Given the description of an element on the screen output the (x, y) to click on. 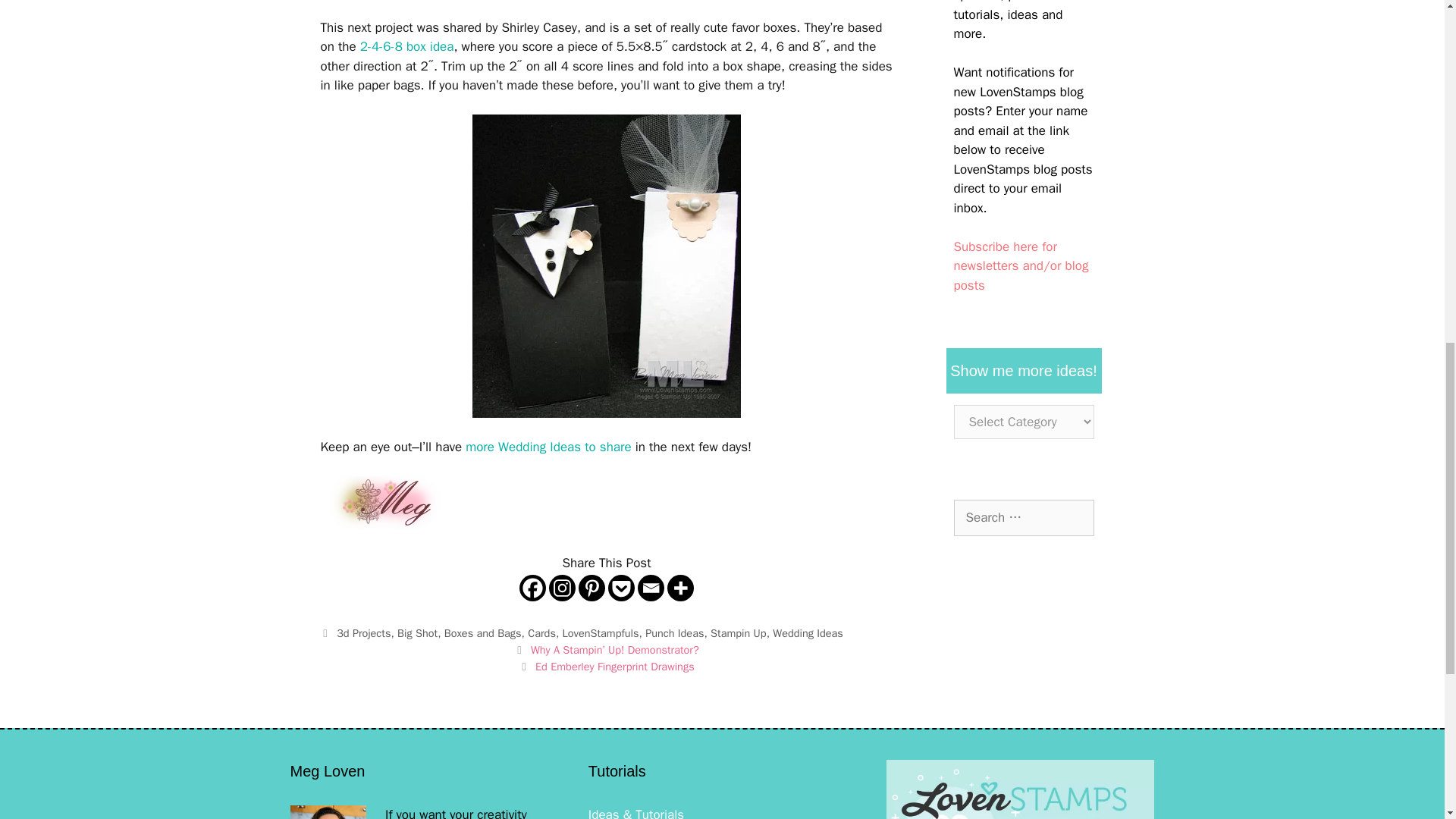
Cards (541, 632)
Big Shot (417, 632)
more Wedding Ideas to share (547, 446)
Boxes and Bags (482, 632)
2-4-6-8 box idea (406, 46)
3d Projects (363, 632)
